Given the description of an element on the screen output the (x, y) to click on. 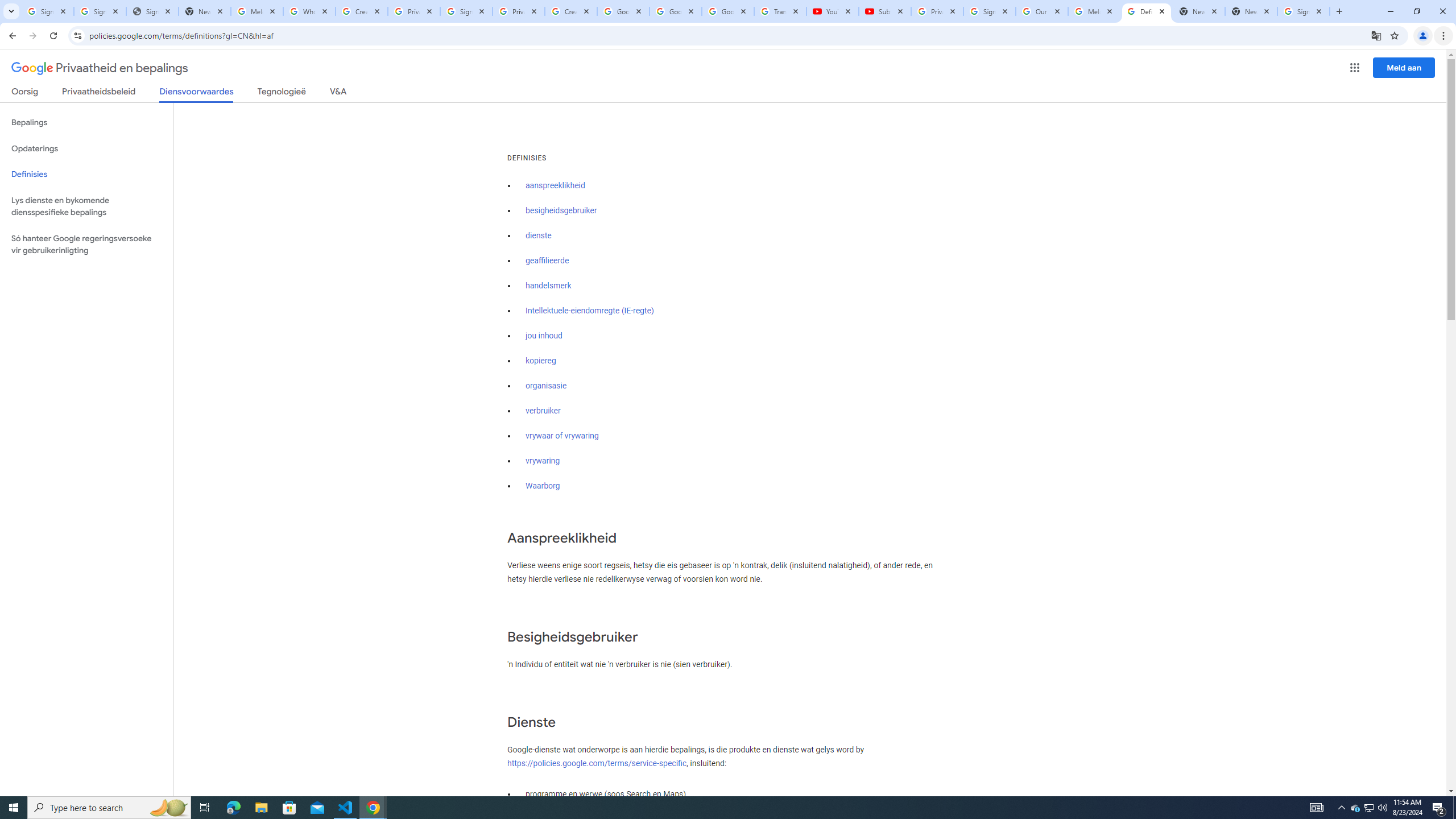
Privaatheidsbeleid (98, 93)
Sign in - Google Accounts (466, 11)
V&A (337, 93)
verbruiker (542, 411)
Subscriptions - YouTube (884, 11)
Sign in - Google Accounts (99, 11)
YouTube (831, 11)
geaffilieerde (547, 260)
